Given the description of an element on the screen output the (x, y) to click on. 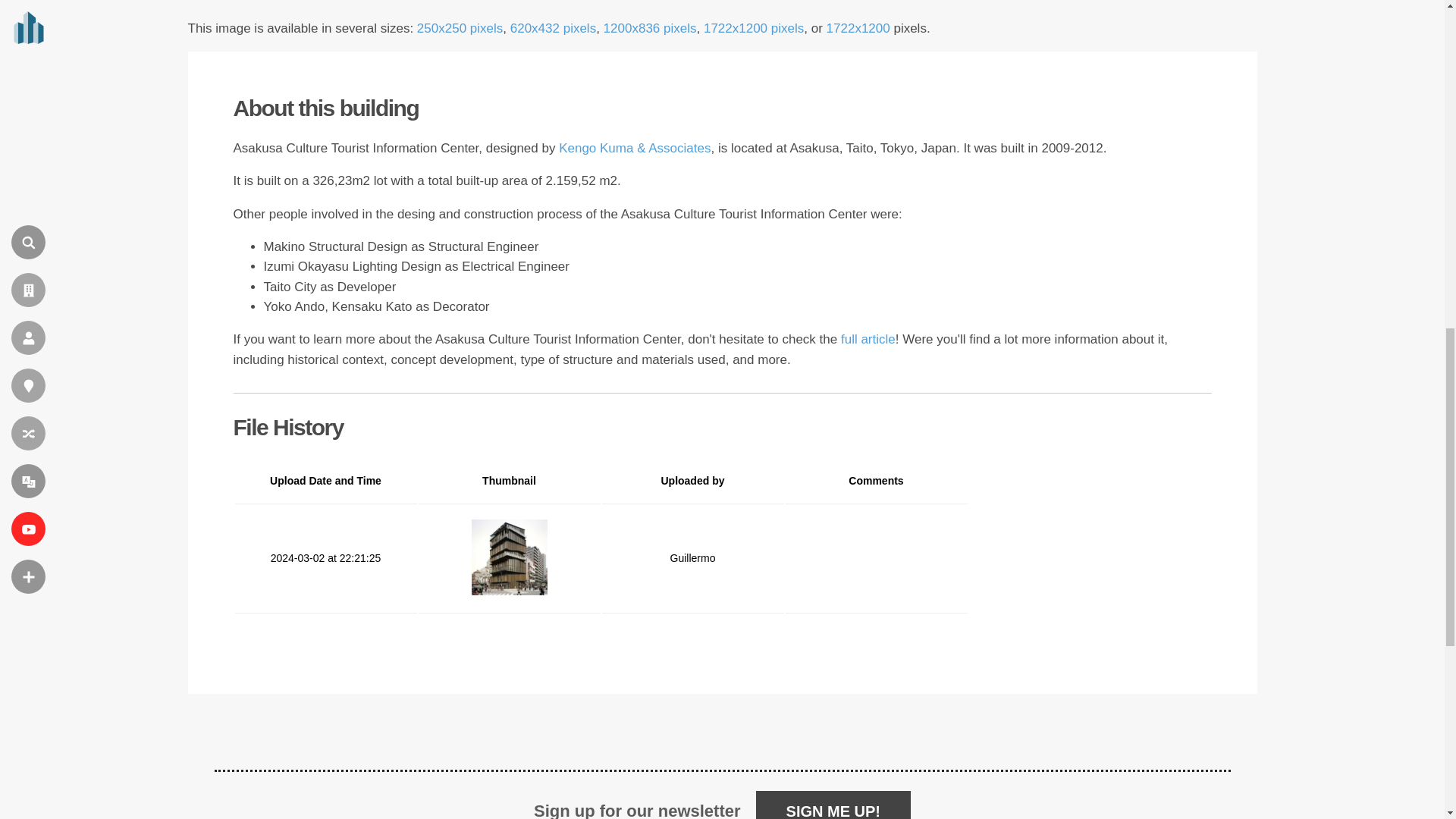
1200x836 pixels (650, 28)
1722x1200 pixels (753, 28)
1722x1200 (858, 28)
250x250 pixels (459, 28)
full article (868, 339)
620x432 pixels (553, 28)
SIGN ME UP! (833, 805)
